Given the description of an element on the screen output the (x, y) to click on. 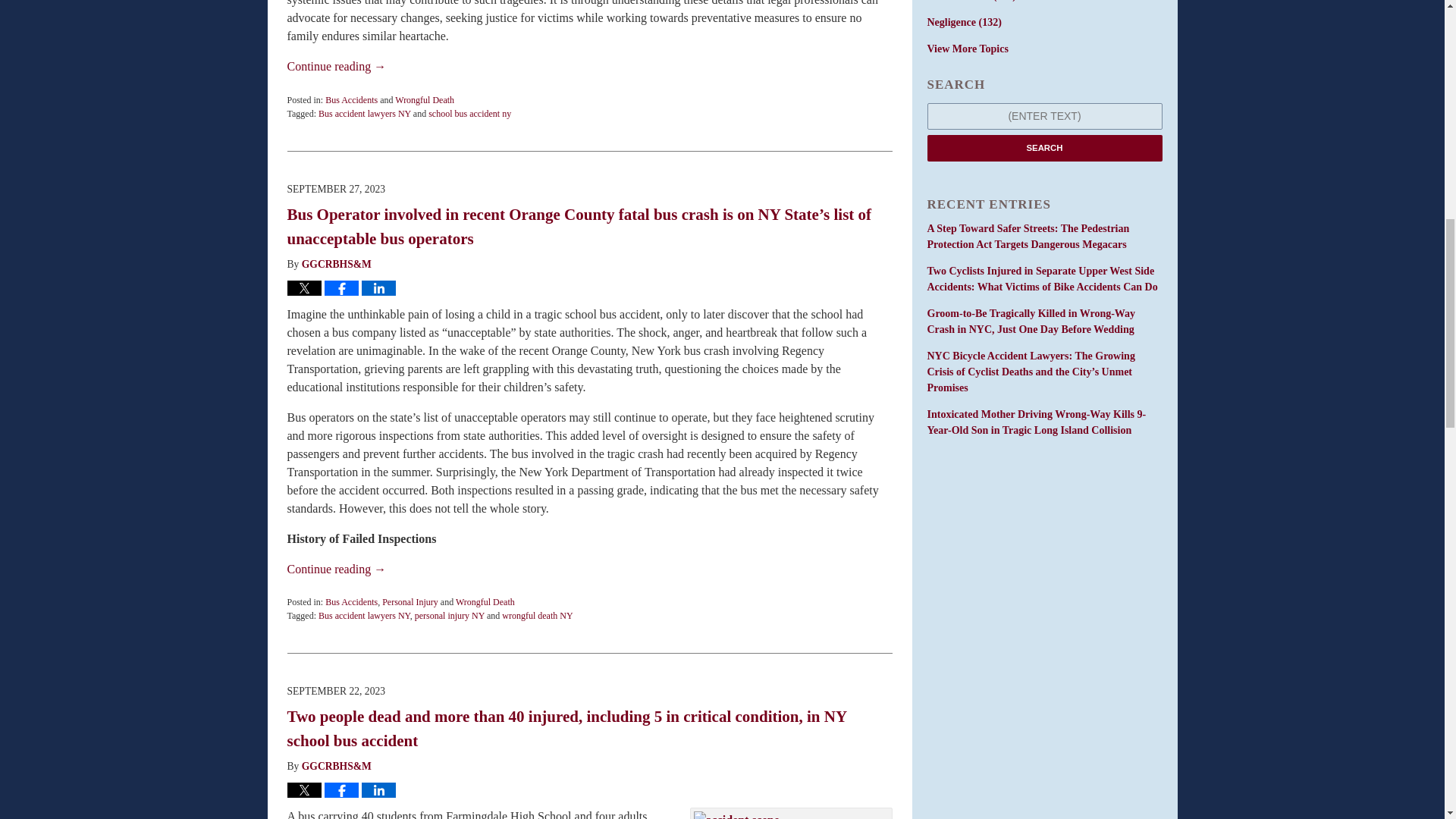
View all posts tagged with Bus accident lawyers NY (364, 615)
View all posts in Wrongful Death (424, 100)
View all posts in Bus Accidents (350, 602)
View all posts tagged with wrongful death NY (537, 615)
View all posts tagged with Bus accident lawyers NY (364, 113)
personal injury NY (449, 615)
Wrongful Death (424, 100)
